Given the description of an element on the screen output the (x, y) to click on. 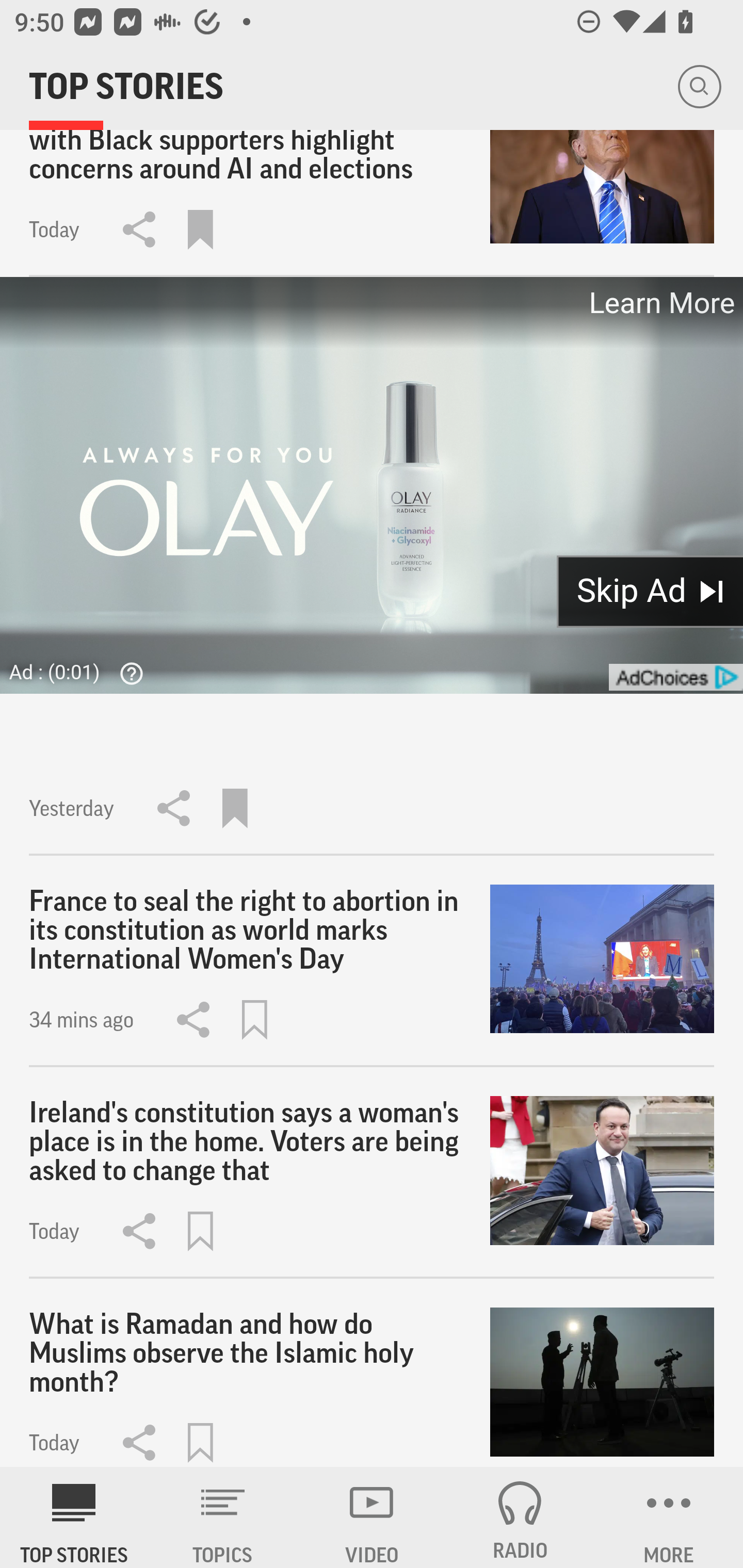
Learn More (660, 303)
Ad : (0:01) Why This Ad? (82, 671)
Why This Ad? (126, 673)
get?name=admarker-full-tl (675, 677)
AP News TOP STORIES (74, 1517)
TOPICS (222, 1517)
VIDEO (371, 1517)
RADIO (519, 1517)
MORE (668, 1517)
